Given the description of an element on the screen output the (x, y) to click on. 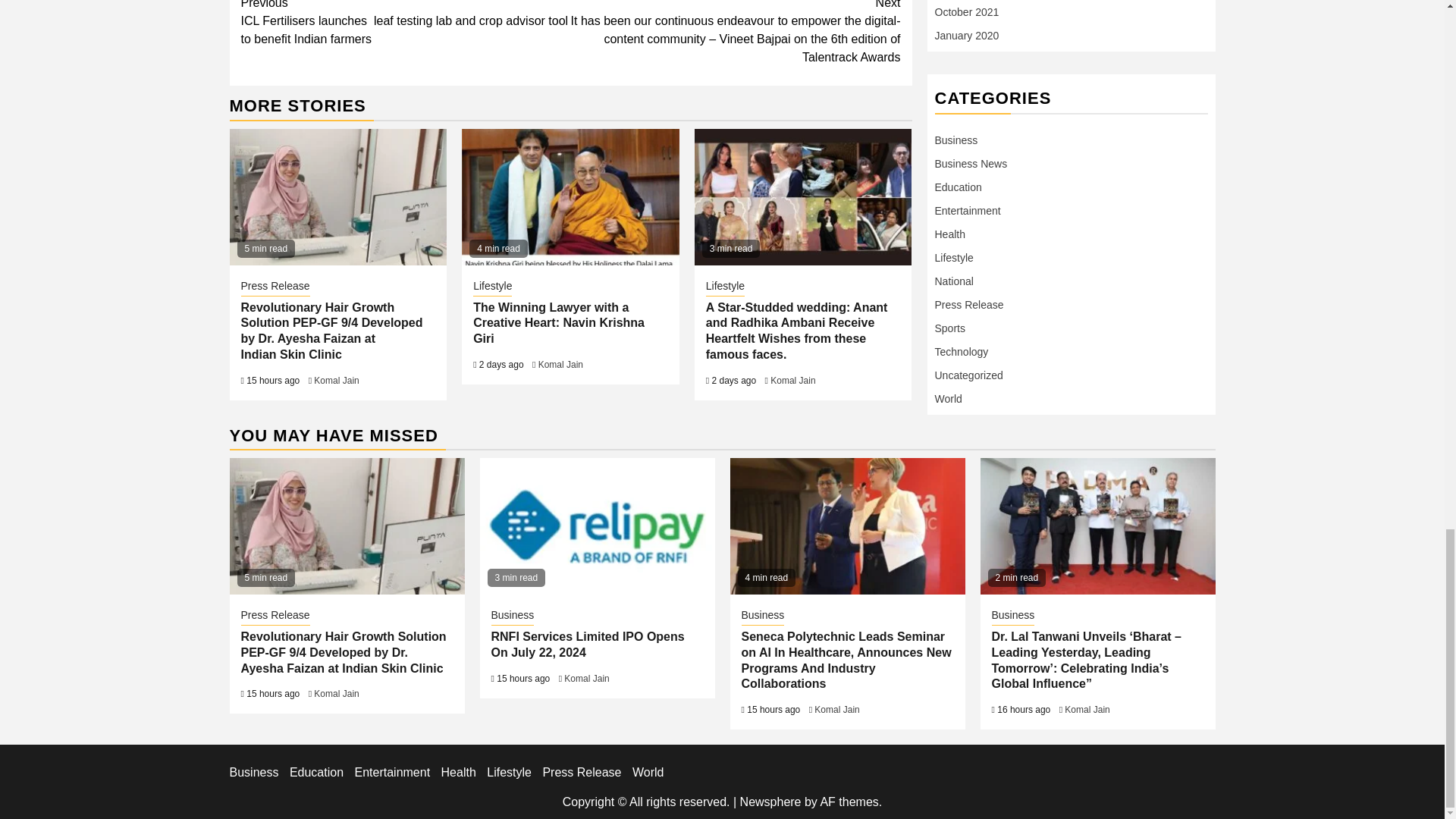
Press Release (275, 287)
Komal Jain (336, 380)
Komal Jain (560, 364)
The Winning Lawyer with a Creative Heart: Navin Krishna Giri (559, 323)
Lifestyle (492, 287)
Lifestyle (725, 287)
